Given the description of an element on the screen output the (x, y) to click on. 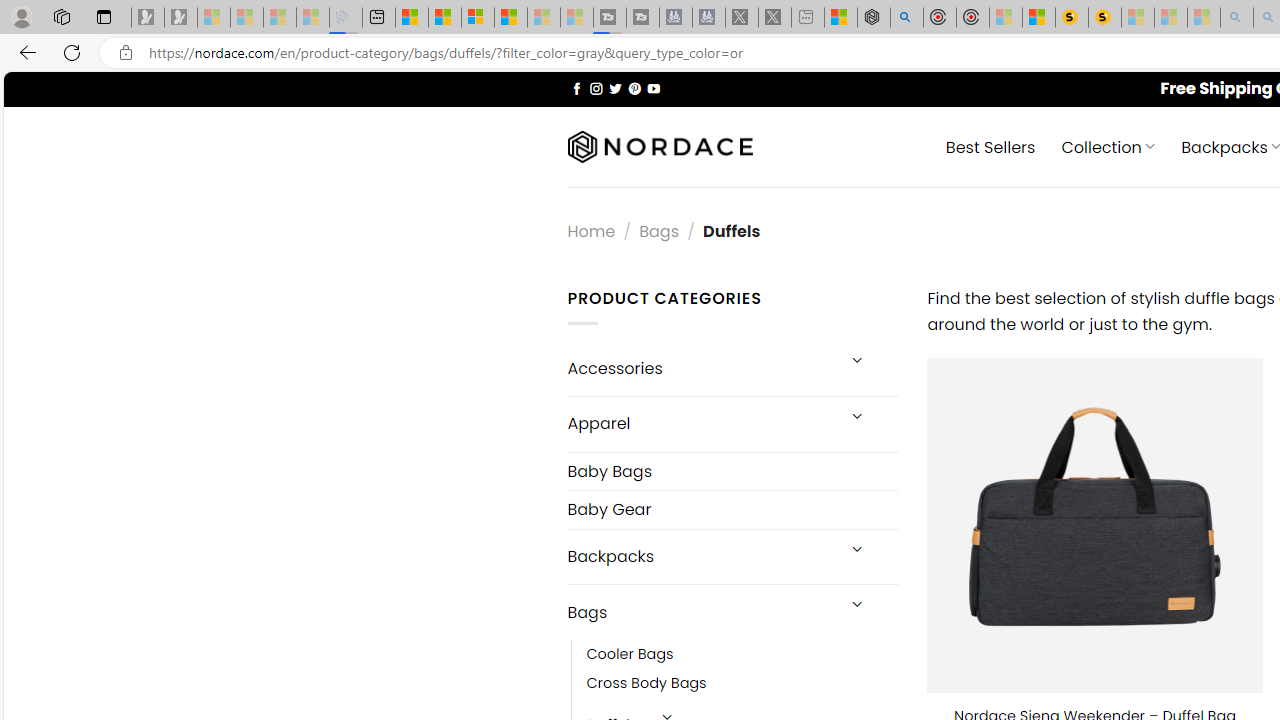
Cooler Bags (630, 655)
Accessories (700, 368)
Overview (478, 17)
Baby Bags (732, 471)
New tab - Sleeping (808, 17)
Bags (700, 613)
Follow on Pinterest (634, 88)
